Given the description of an element on the screen output the (x, y) to click on. 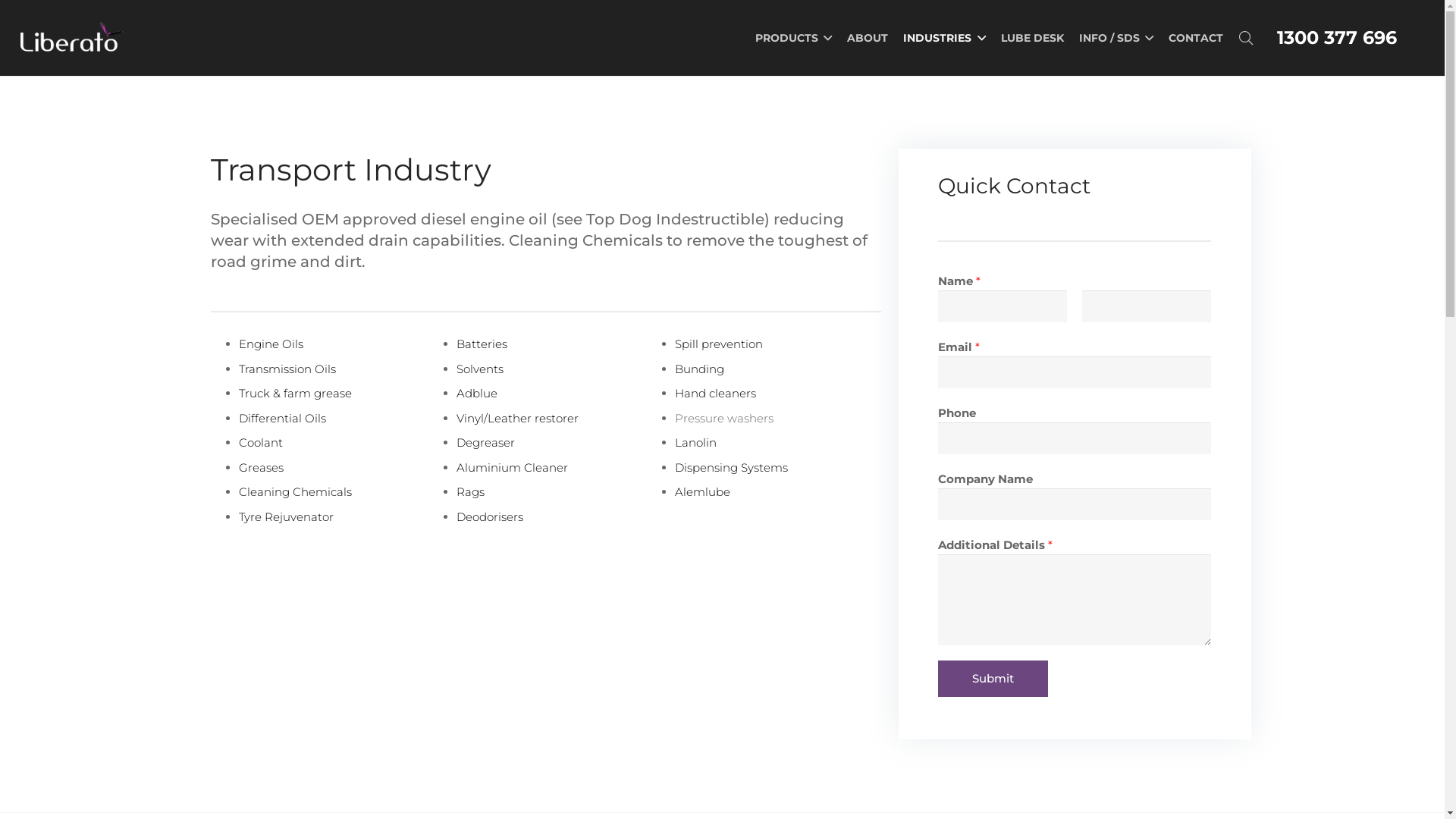
Hand cleaners Element type: text (715, 392)
ABOUT Element type: text (867, 37)
CONTACT Element type: text (1195, 37)
Vinyl/Leather restorer Element type: text (517, 418)
Lanolin Element type: text (695, 442)
Engine Oils Element type: text (270, 343)
Tyre Rejuvenator Element type: text (285, 516)
Degreaser Element type: text (485, 442)
Rags Element type: text (470, 491)
PRODUCTS Element type: text (793, 37)
Submit Element type: text (993, 678)
Truck & farm grease Element type: text (294, 392)
LUBE DESK Element type: text (1032, 37)
Deodorisers Element type: text (489, 516)
Aluminium Cleaner Element type: text (511, 466)
INFO / SDS Element type: text (1116, 37)
Dispensing Systems Element type: text (730, 466)
Spill prevention Element type: text (718, 343)
INDUSTRIES Element type: text (943, 37)
Coolant Element type: text (260, 442)
Adblue Element type: text (476, 392)
Batteries Element type: text (481, 343)
Cleaning Chemicals Element type: text (294, 491)
Bunding Element type: text (699, 367)
Solvents Element type: text (479, 367)
Alemlube Element type: text (702, 491)
1300 377 696 Element type: text (1336, 37)
Differential Oils Element type: text (282, 418)
Greases Element type: text (260, 466)
Transmission Oils Element type: text (286, 367)
